Given the description of an element on the screen output the (x, y) to click on. 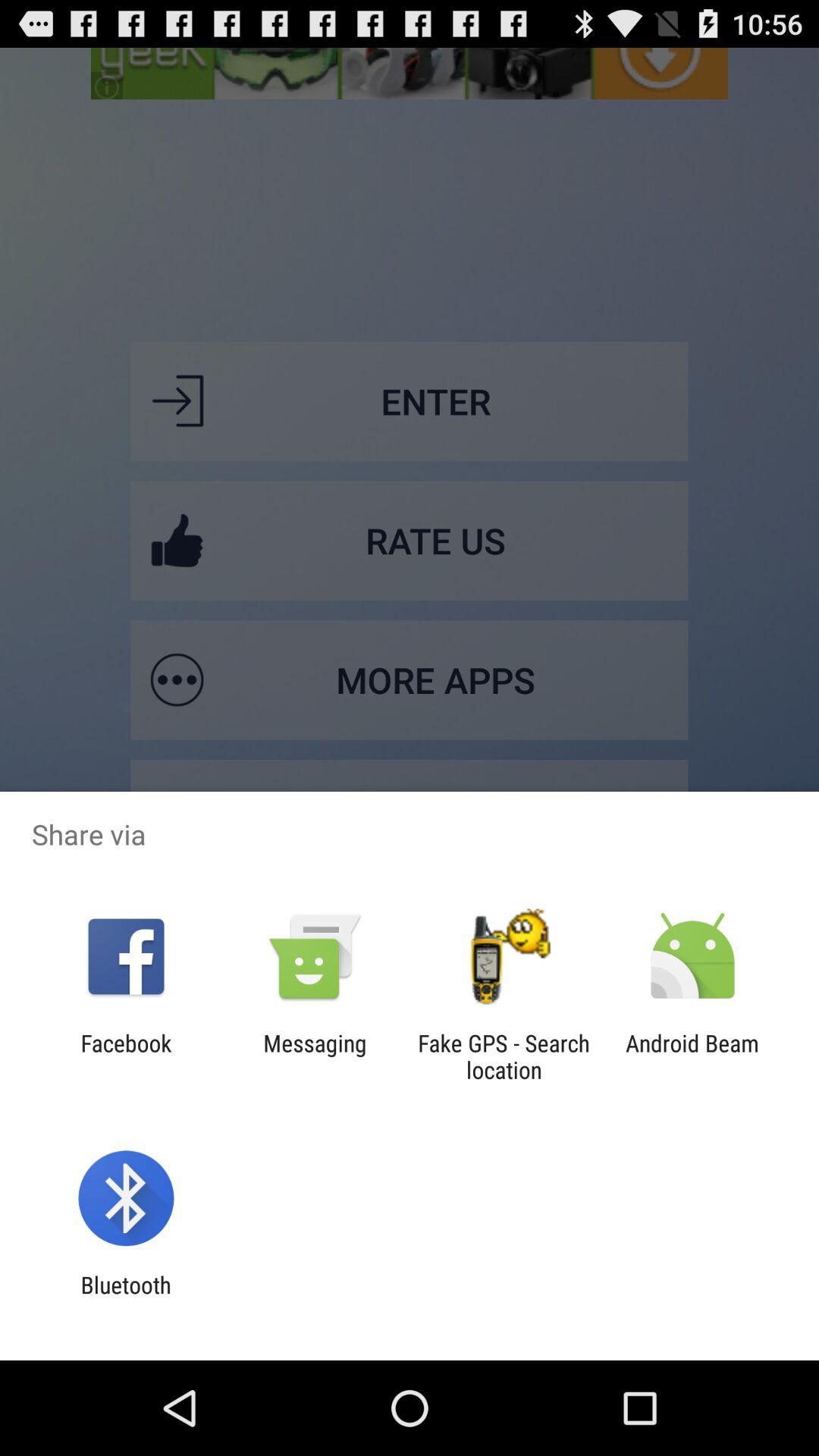
press messaging item (314, 1056)
